Given the description of an element on the screen output the (x, y) to click on. 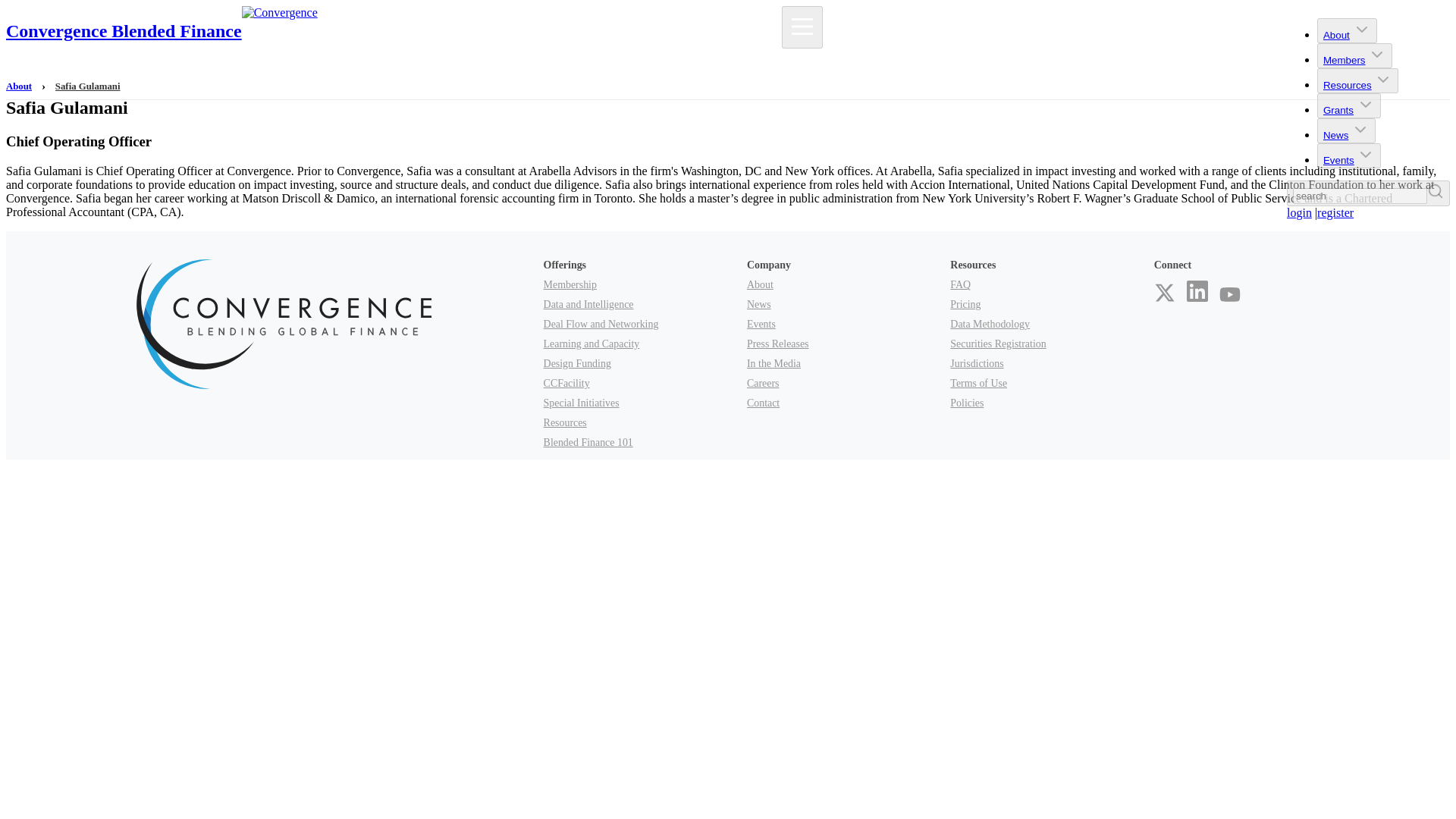
Safia Gulamani (87, 85)
Special Initiatives (581, 402)
Resources (1347, 84)
Grants (1338, 110)
Learning and Capacity (591, 343)
FAQ (960, 284)
Safia Gulamani (87, 85)
Design Funding (577, 363)
About (759, 284)
register (1335, 212)
About (1347, 30)
Resources (1357, 80)
Press Releases (777, 343)
Contact (762, 402)
News (1335, 134)
